Given the description of an element on the screen output the (x, y) to click on. 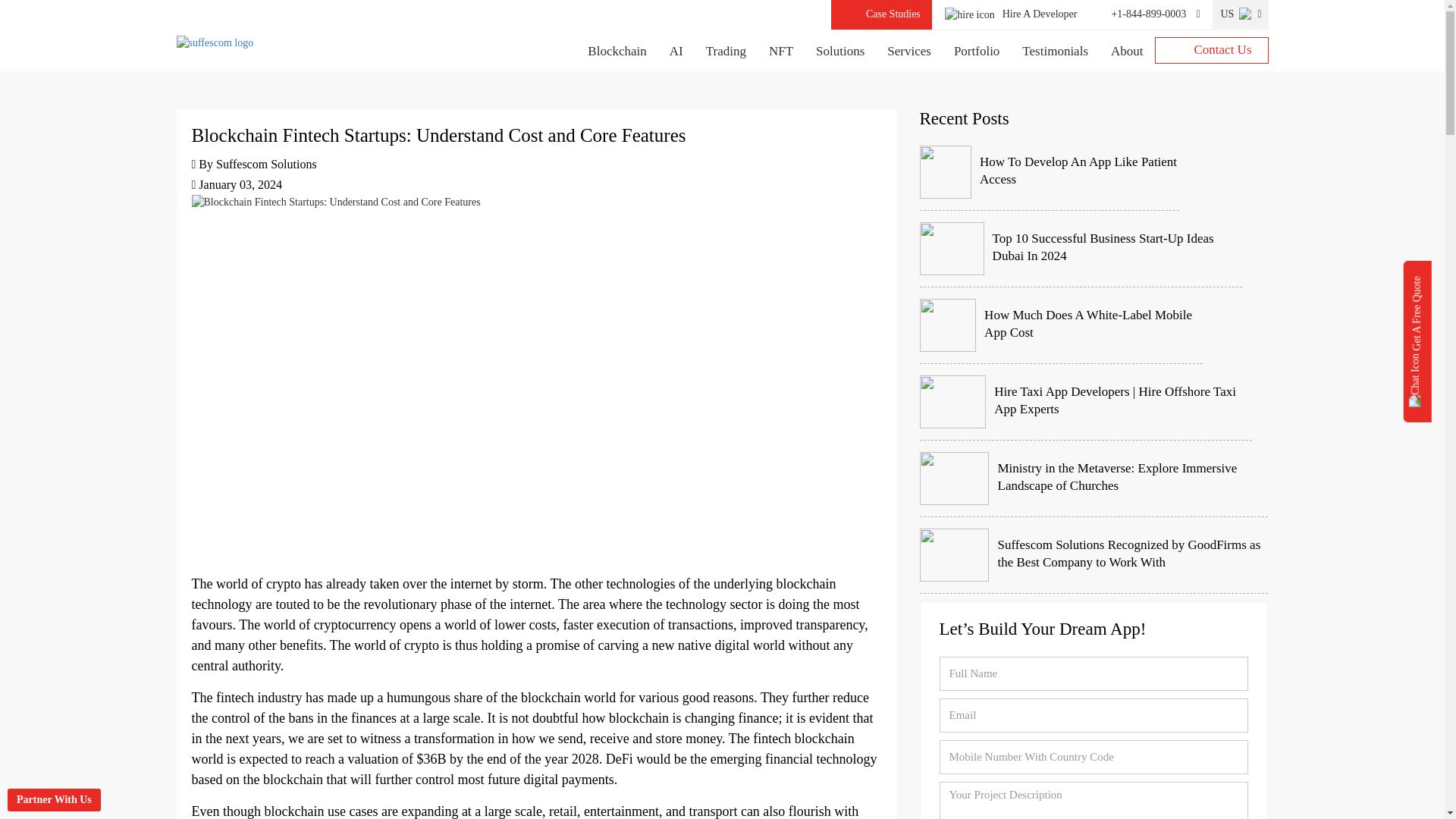
How To Develop An App Like Patient Access (1048, 172)
How Much Does A White-Label Mobile App Cost (1060, 325)
Top 10 Successful Business Start-Up Ideas Dubai In 2024 (1079, 248)
